Given the description of an element on the screen output the (x, y) to click on. 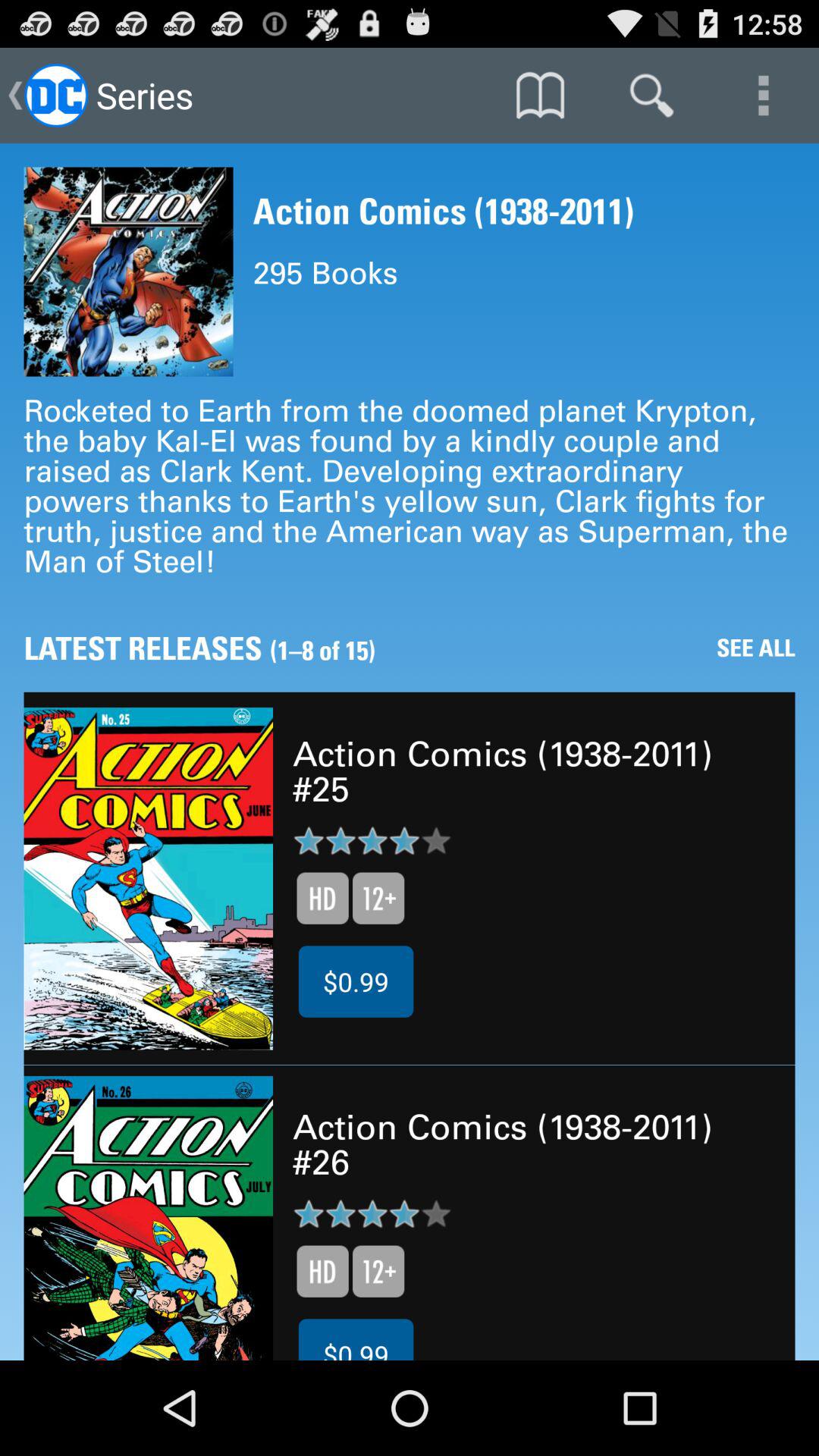
tap the item above the rocketed to earth item (763, 95)
